Given the description of an element on the screen output the (x, y) to click on. 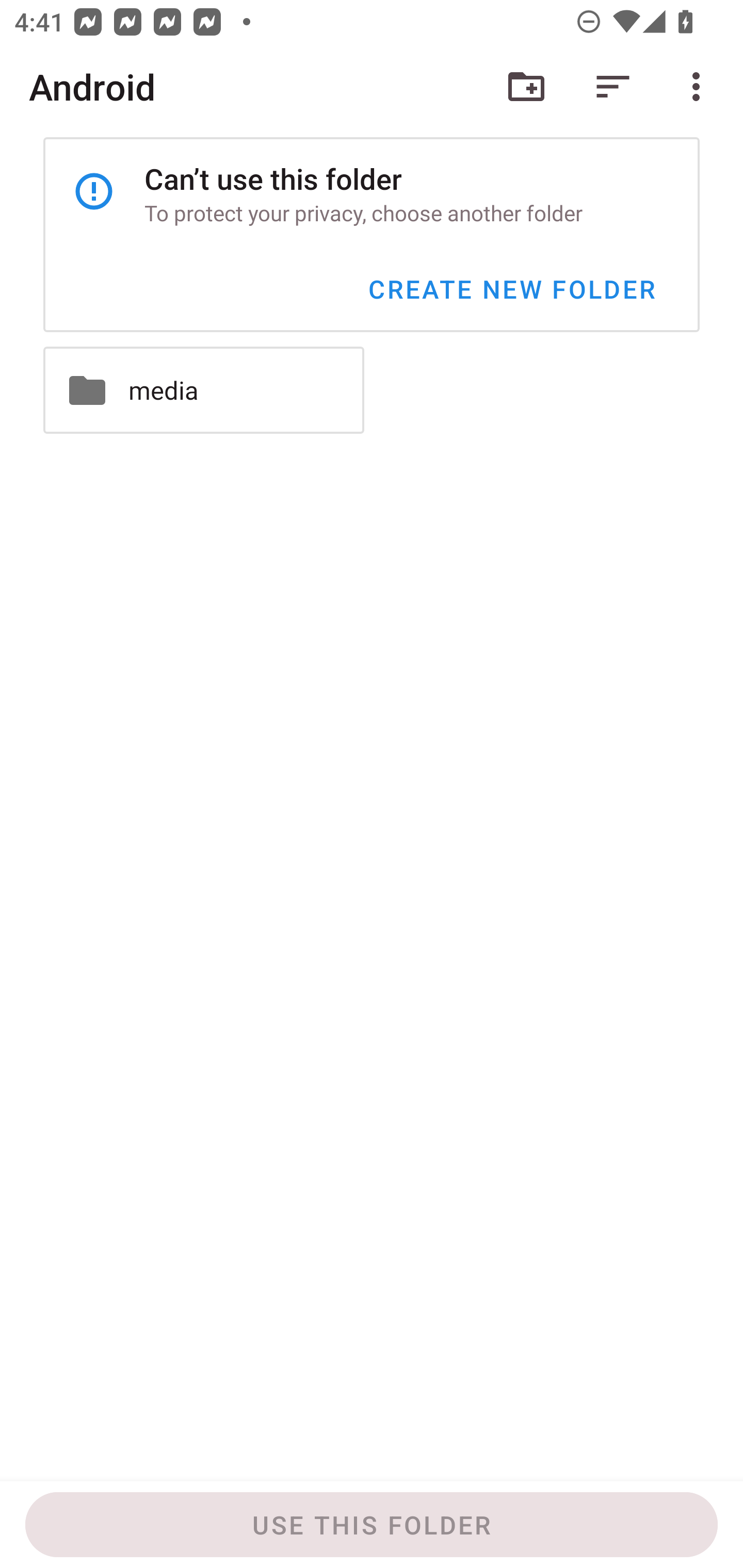
New folder (525, 86)
Sort by... (612, 86)
More options (699, 86)
CREATE NEW FOLDER (511, 289)
media (203, 390)
USE THIS FOLDER (371, 1524)
